Given the description of an element on the screen output the (x, y) to click on. 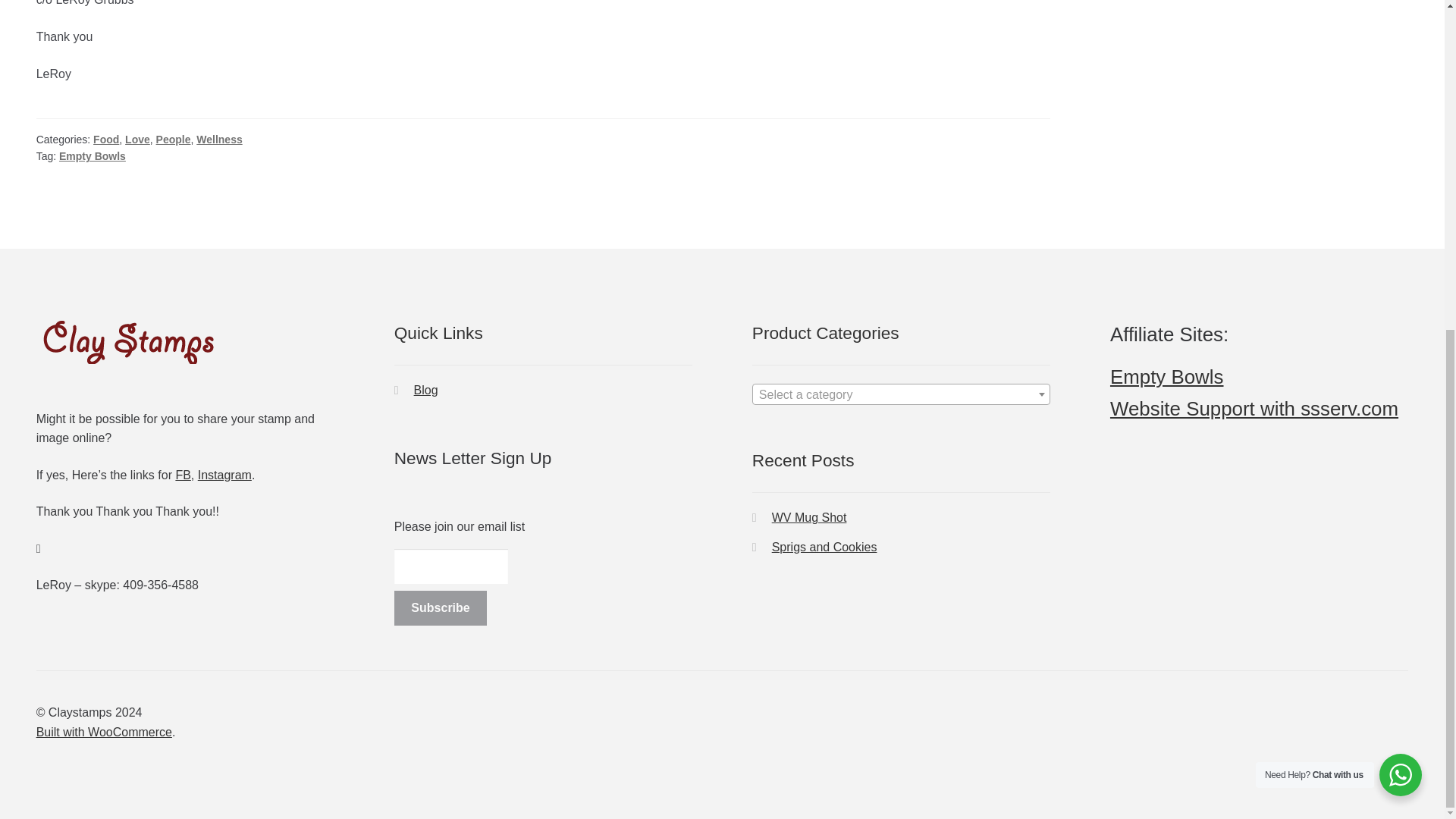
Wellness (218, 139)
Food (106, 139)
WooCommerce - The Best eCommerce Platform for WordPress (103, 731)
Love (137, 139)
People (172, 139)
Empty Bowls (92, 155)
Subscribe (440, 607)
